Given the description of an element on the screen output the (x, y) to click on. 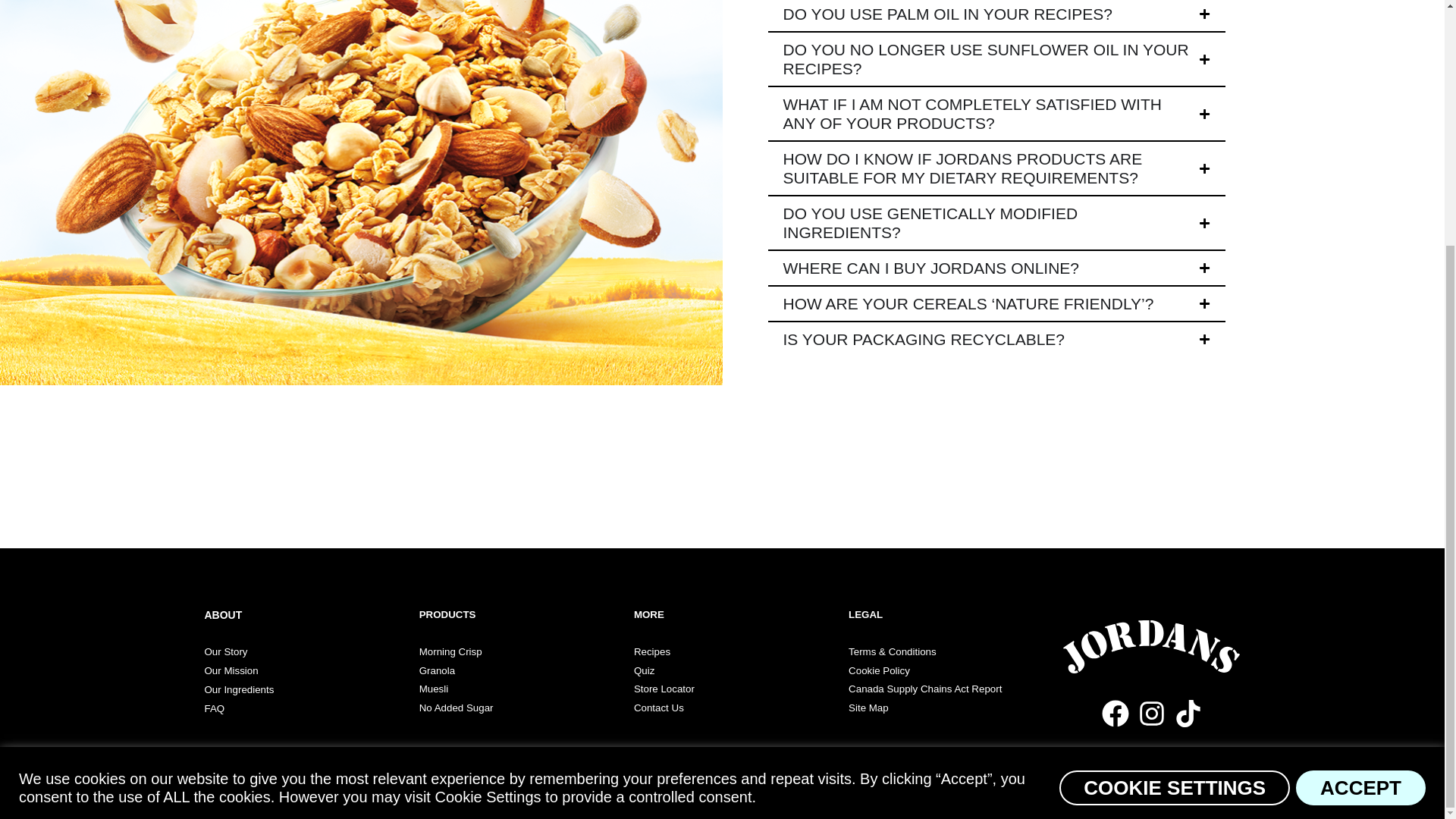
COOKIE SETTINGS (1174, 446)
ACCEPT (1360, 446)
